Given the description of an element on the screen output the (x, y) to click on. 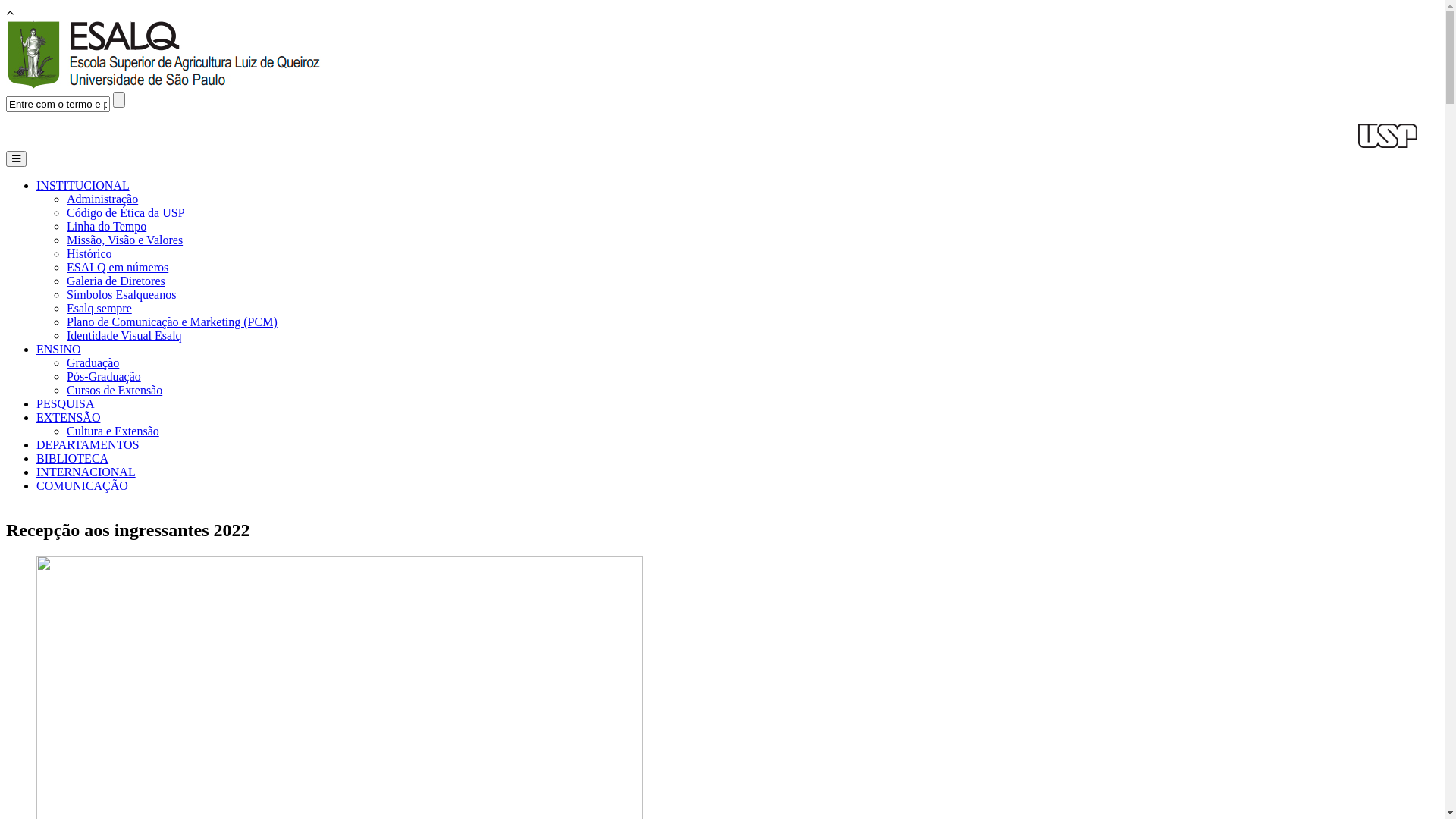
USP Element type: hover (1387, 135)
DEPARTAMENTOS Element type: text (87, 444)
PESQUISA Element type: text (65, 403)
Galeria de Diretores Element type: text (115, 280)
Identidade Visual Esalq Element type: text (124, 335)
Esalq sempre Element type: text (98, 307)
Linha do Tempo Element type: text (106, 225)
INTERNACIONAL Element type: text (85, 471)
BIBLIOTECA Element type: text (72, 457)
INSTITUCIONAL Element type: text (82, 184)
ENSINO Element type: text (58, 348)
